Given the description of an element on the screen output the (x, y) to click on. 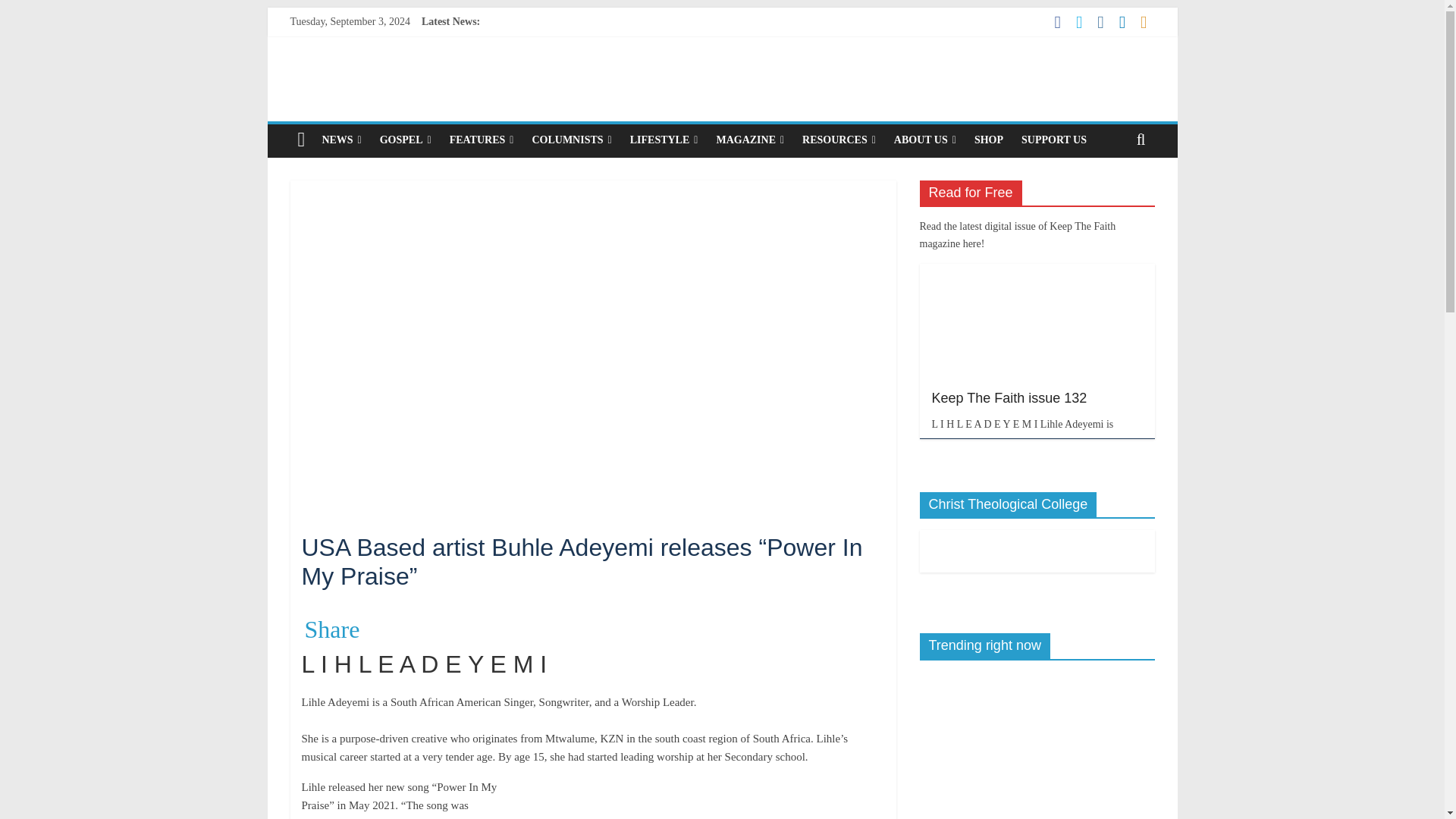
GOSPEL (406, 140)
LIFESTYLE (664, 140)
NEWS (341, 140)
COLUMNISTS (571, 140)
FEATURES (481, 140)
